Given the description of an element on the screen output the (x, y) to click on. 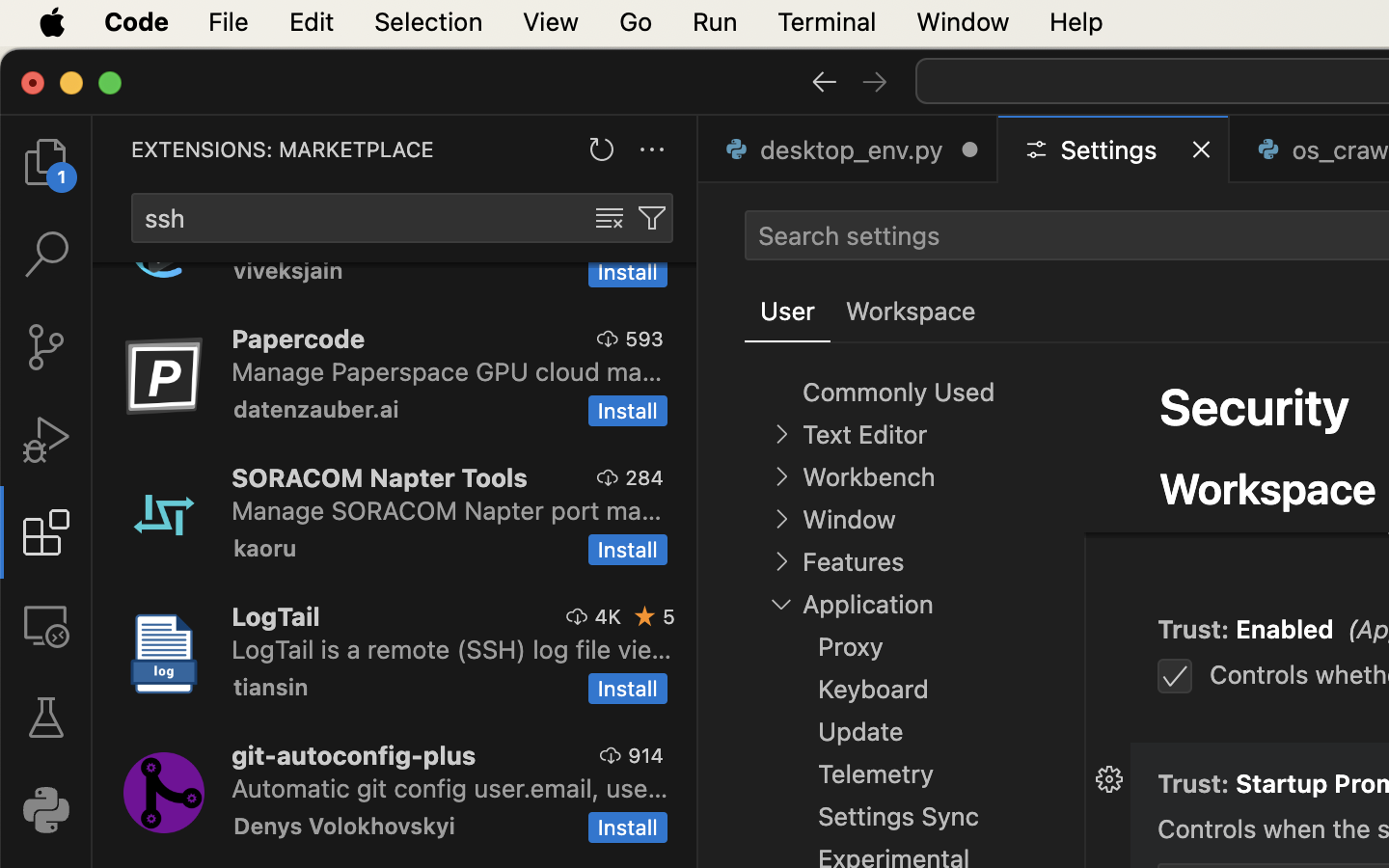
tiansin Element type: AXStaticText (270, 686)
1 Element type: AXRadioButton (787, 311)
Automatic git config user.email, user.name, SSH key setting for vscode Element type: AXStaticText (450, 787)
LogTail Element type: AXStaticText (275, 615)
Denys Volokhovskyi Element type: AXStaticText (344, 825)
